Given the description of an element on the screen output the (x, y) to click on. 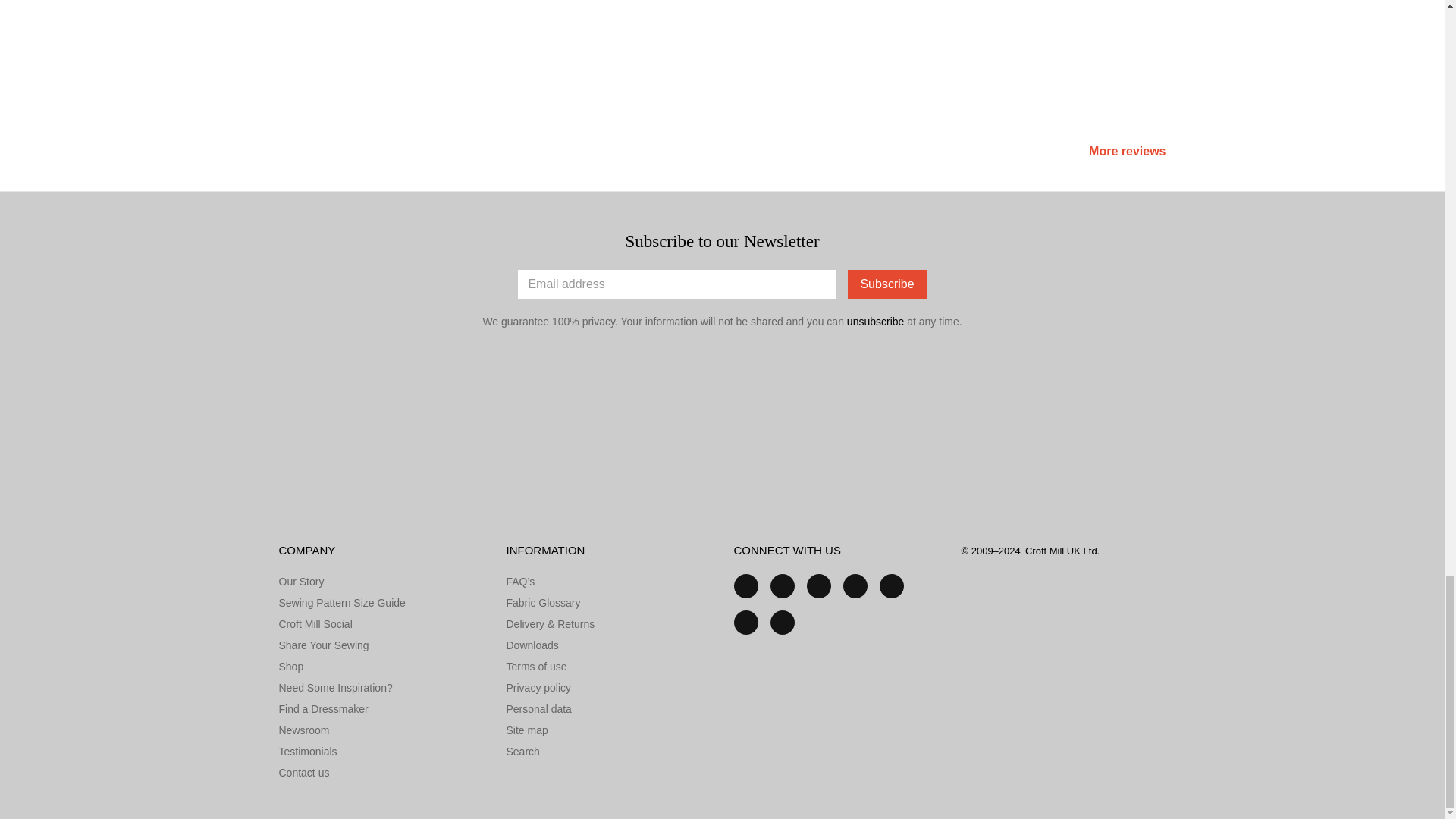
Subscribe (886, 284)
